Given the description of an element on the screen output the (x, y) to click on. 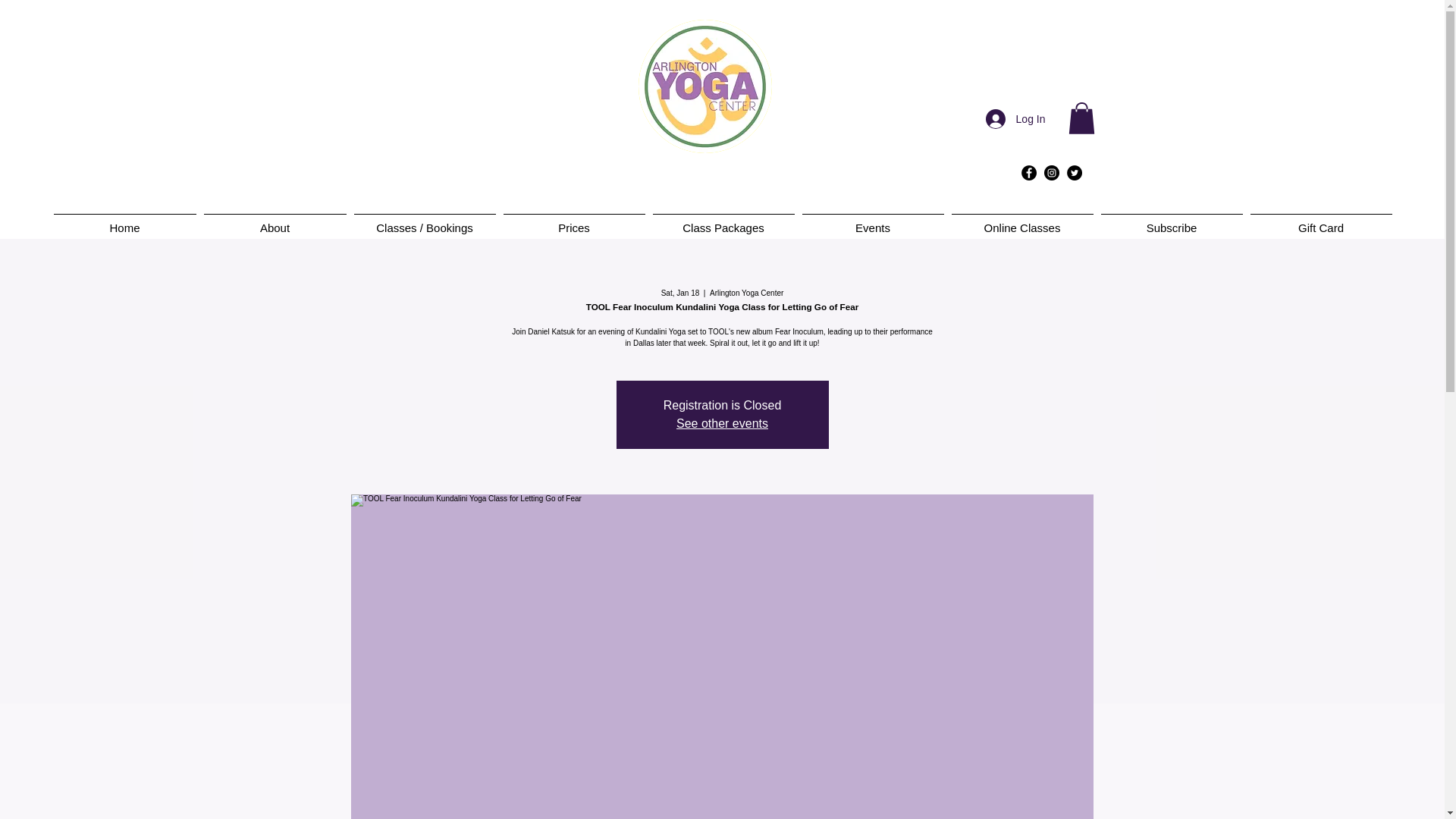
Online Classes (1022, 221)
About (275, 221)
See other events (722, 422)
Gift Card (1321, 221)
Class Packages (723, 221)
Events (872, 221)
Log In (1016, 118)
Prices (573, 221)
Subscribe (1171, 221)
Home (124, 221)
